Given the description of an element on the screen output the (x, y) to click on. 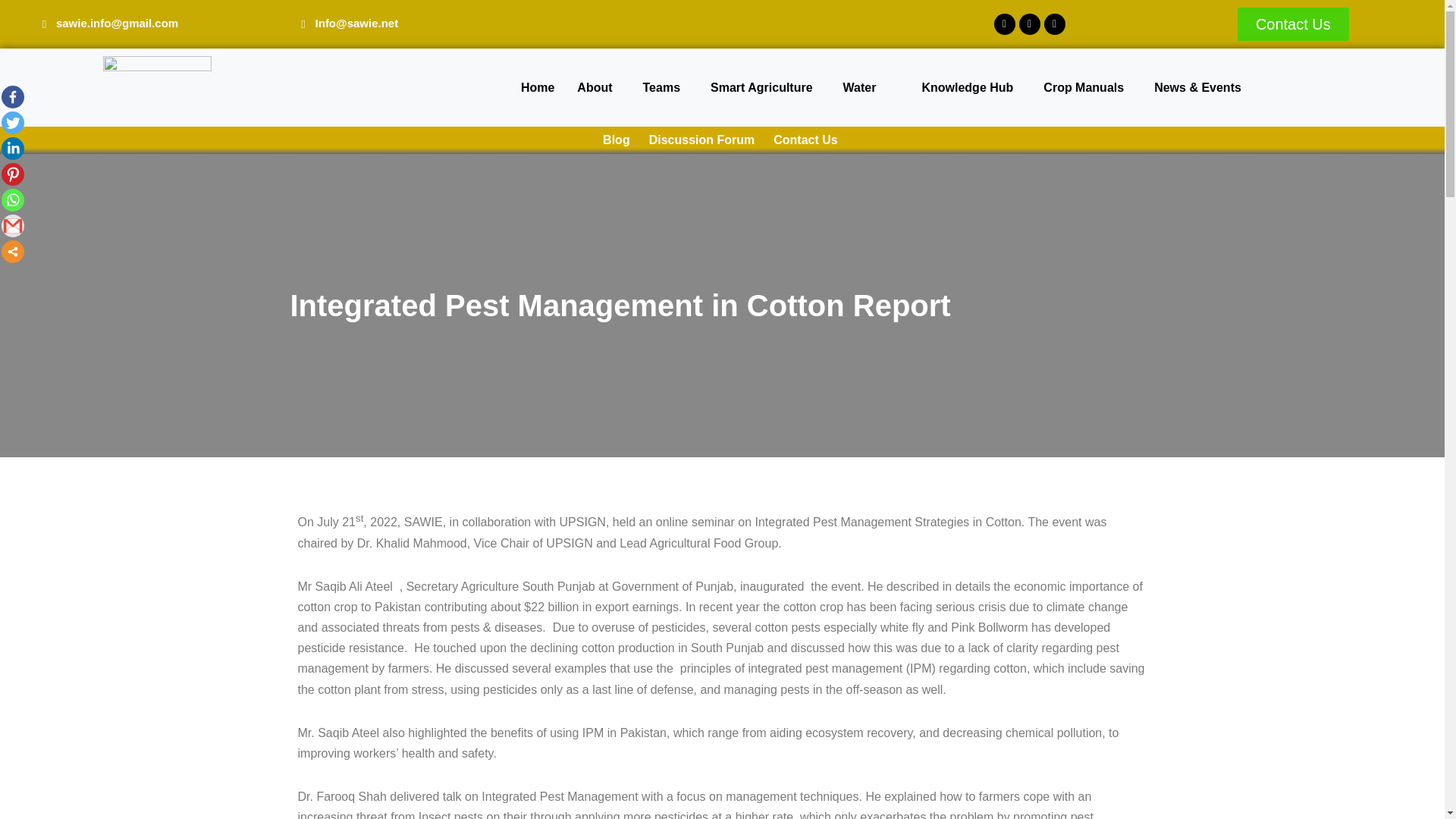
Twitter (12, 122)
Home (537, 86)
Skip to content (11, 31)
Google Gmail (12, 225)
Facebook (12, 96)
About (598, 86)
Contact Us (1293, 23)
Knowledge Hub (971, 86)
Linkedin (12, 148)
Smart Agriculture (764, 86)
More (12, 251)
Pinterest (12, 173)
Water (863, 86)
Whatsapp (12, 200)
Crop Manuals (1087, 86)
